Given the description of an element on the screen output the (x, y) to click on. 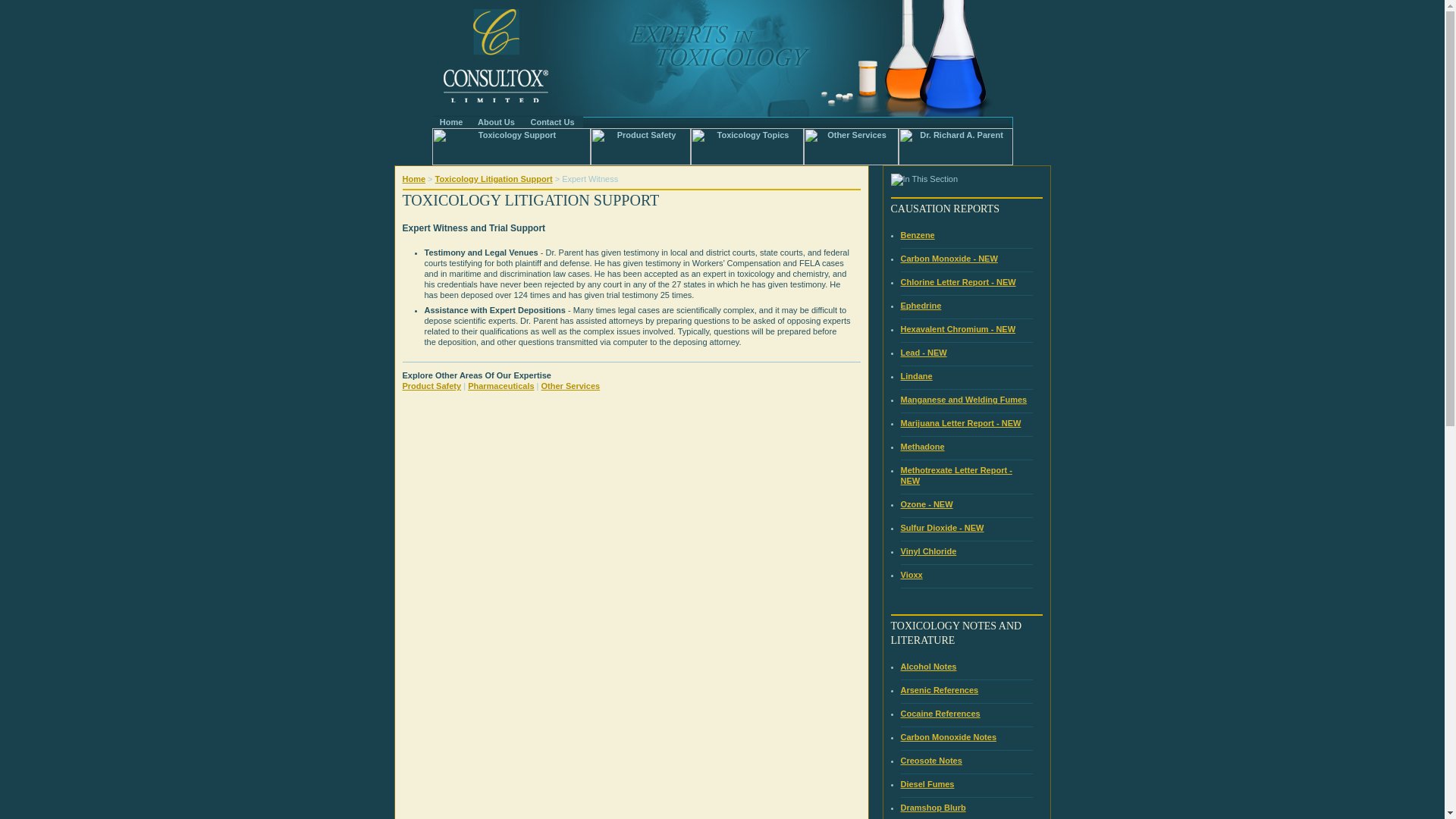
About Us (495, 122)
Toxicology Topics (746, 146)
Chlorine Letter Report - NEW (958, 281)
Dramshop Blurb (933, 807)
Chlorine Report (958, 281)
Cocaine References (940, 713)
Vioxx (912, 574)
Toxicology Support (511, 146)
Methotrexate (956, 475)
Product Safety (639, 146)
